Given the description of an element on the screen output the (x, y) to click on. 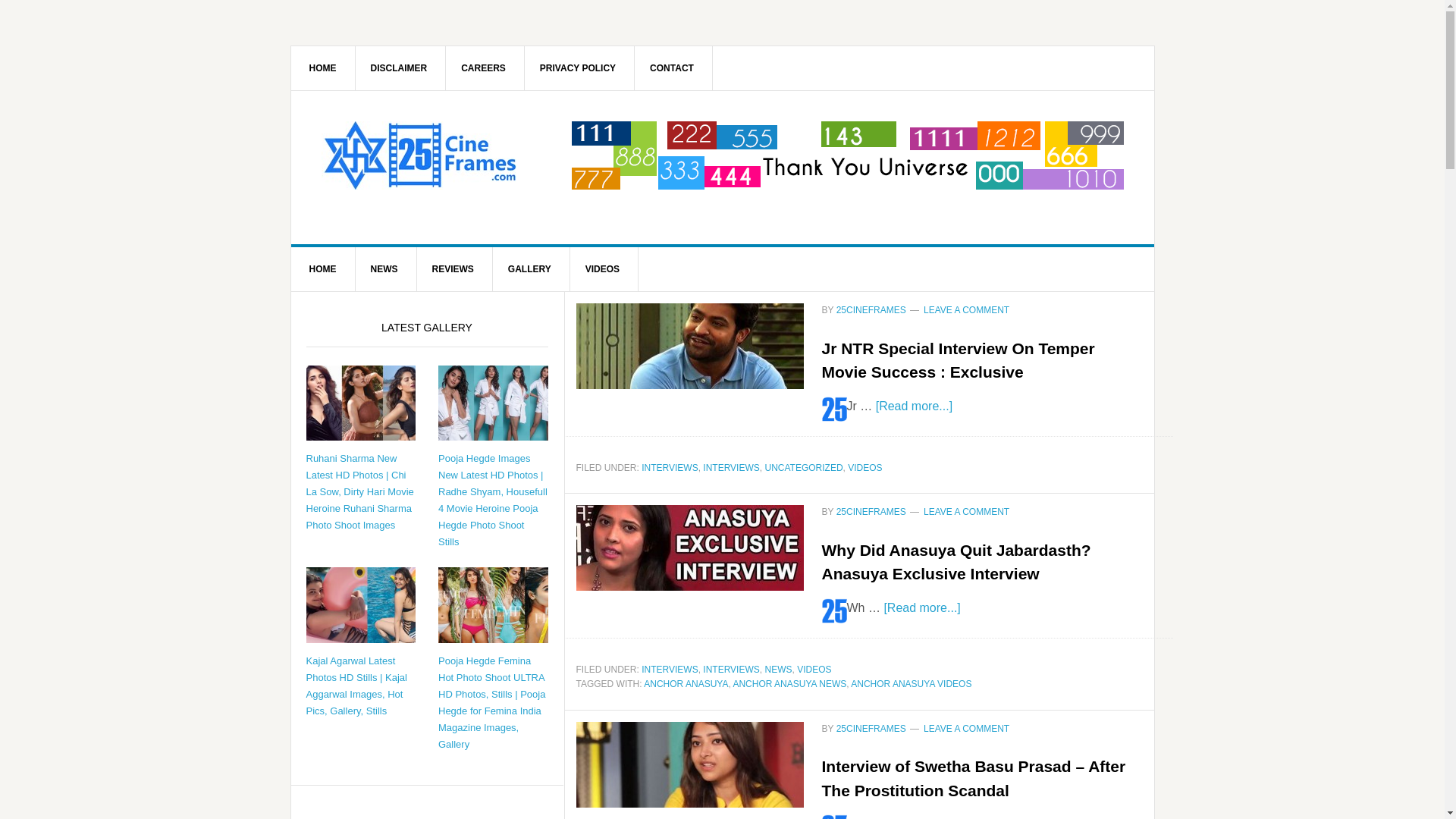
ANCHOR ANASUYA NEWS Element type: text (789, 683)
INTERVIEWS Element type: text (669, 669)
HOME Element type: text (323, 68)
HOME Element type: text (323, 269)
VIDEOS Element type: text (602, 269)
UNCATEGORIZED Element type: text (803, 467)
GALLERY Element type: text (529, 269)
25CINEFRAMES Element type: text (871, 511)
25CINEFRAMES Element type: text (871, 728)
LEAVE A COMMENT Element type: text (966, 309)
VIDEOS Element type: text (864, 467)
25CINEFRAMES Element type: text (871, 309)
ANCHOR ANASUYA Element type: text (685, 683)
NEWS Element type: text (777, 669)
Why Did Anasuya Quit Jabardasth? Anasuya Exclusive Interview Element type: text (956, 562)
Jr NTR Special Interview On Temper Movie Success : Exclusive Element type: text (958, 360)
[Read more...] Element type: text (913, 404)
LEAVE A COMMENT Element type: text (966, 728)
DISCLAIMER Element type: text (398, 68)
25CINEFRAMES Element type: text (419, 155)
CONTACT Element type: text (671, 68)
INTERVIEWS Element type: text (730, 467)
[Read more...] Element type: text (921, 606)
CAREERS Element type: text (483, 68)
PRIVACY POLICY Element type: text (577, 68)
LEAVE A COMMENT Element type: text (966, 511)
REVIEWS Element type: text (453, 269)
ANCHOR ANASUYA VIDEOS Element type: text (910, 683)
INTERVIEWS Element type: text (669, 467)
NEWS Element type: text (383, 269)
INTERVIEWS Element type: text (730, 669)
VIDEOS Element type: text (814, 669)
